Given the description of an element on the screen output the (x, y) to click on. 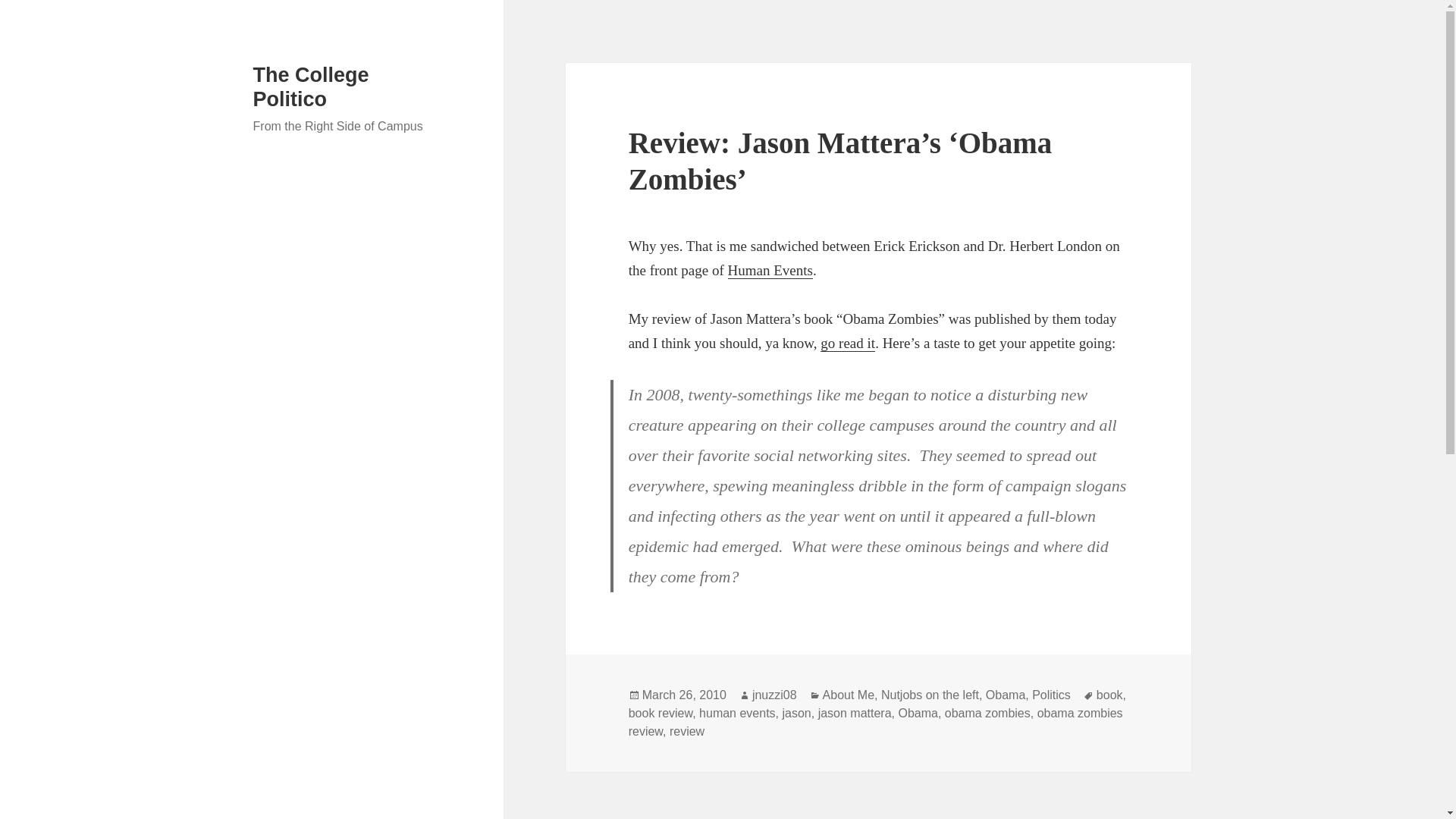
Politics (1051, 694)
book (1109, 694)
human events (737, 713)
Human Events (770, 270)
obama zombies review (875, 722)
Obama (917, 713)
jason (795, 713)
Obama (1005, 694)
The College Politico (311, 86)
YAYAYAYAY (848, 343)
